Given the description of an element on the screen output the (x, y) to click on. 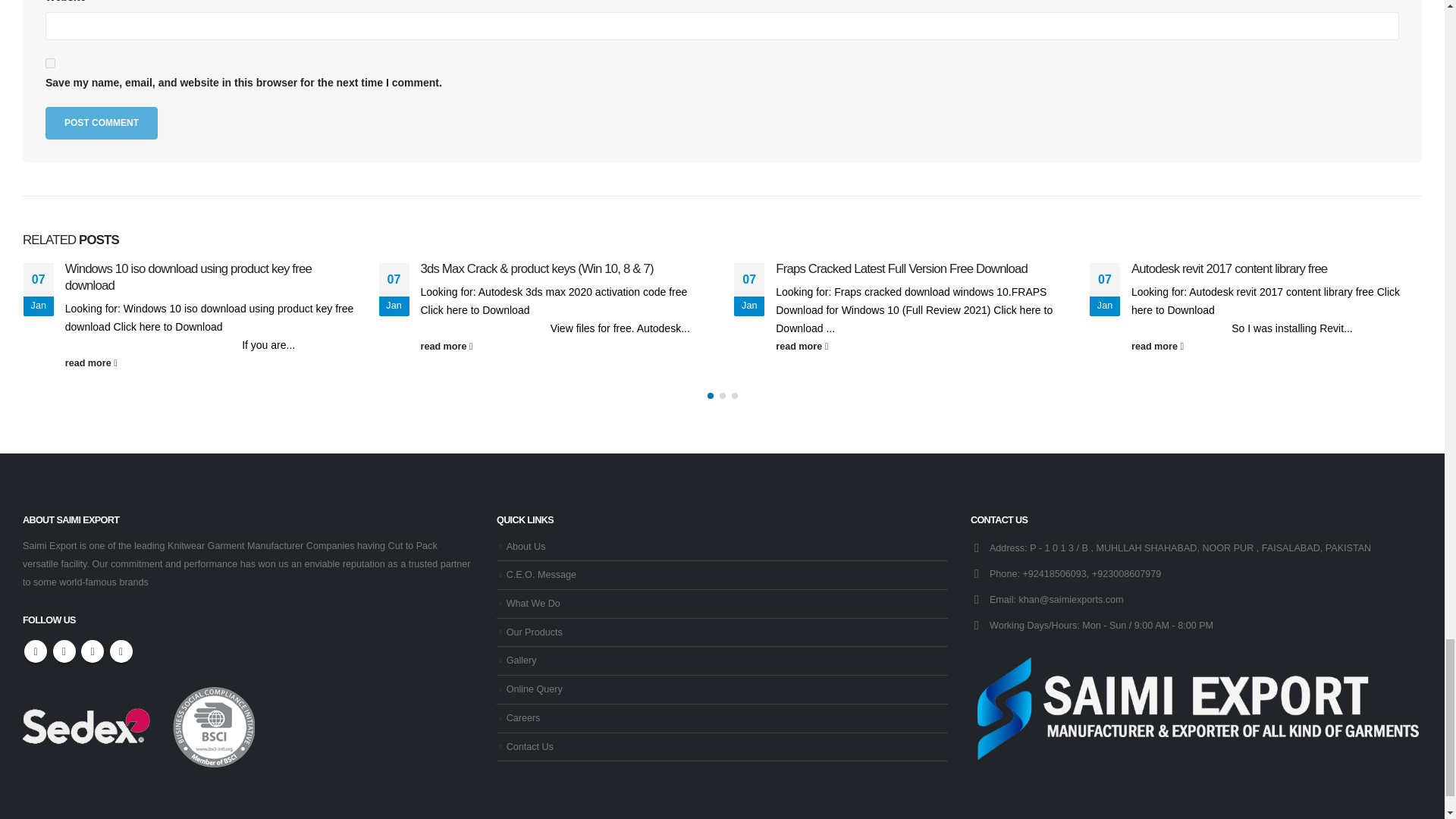
yes (50, 62)
Post Comment (101, 123)
Post Comment (101, 123)
